Given the description of an element on the screen output the (x, y) to click on. 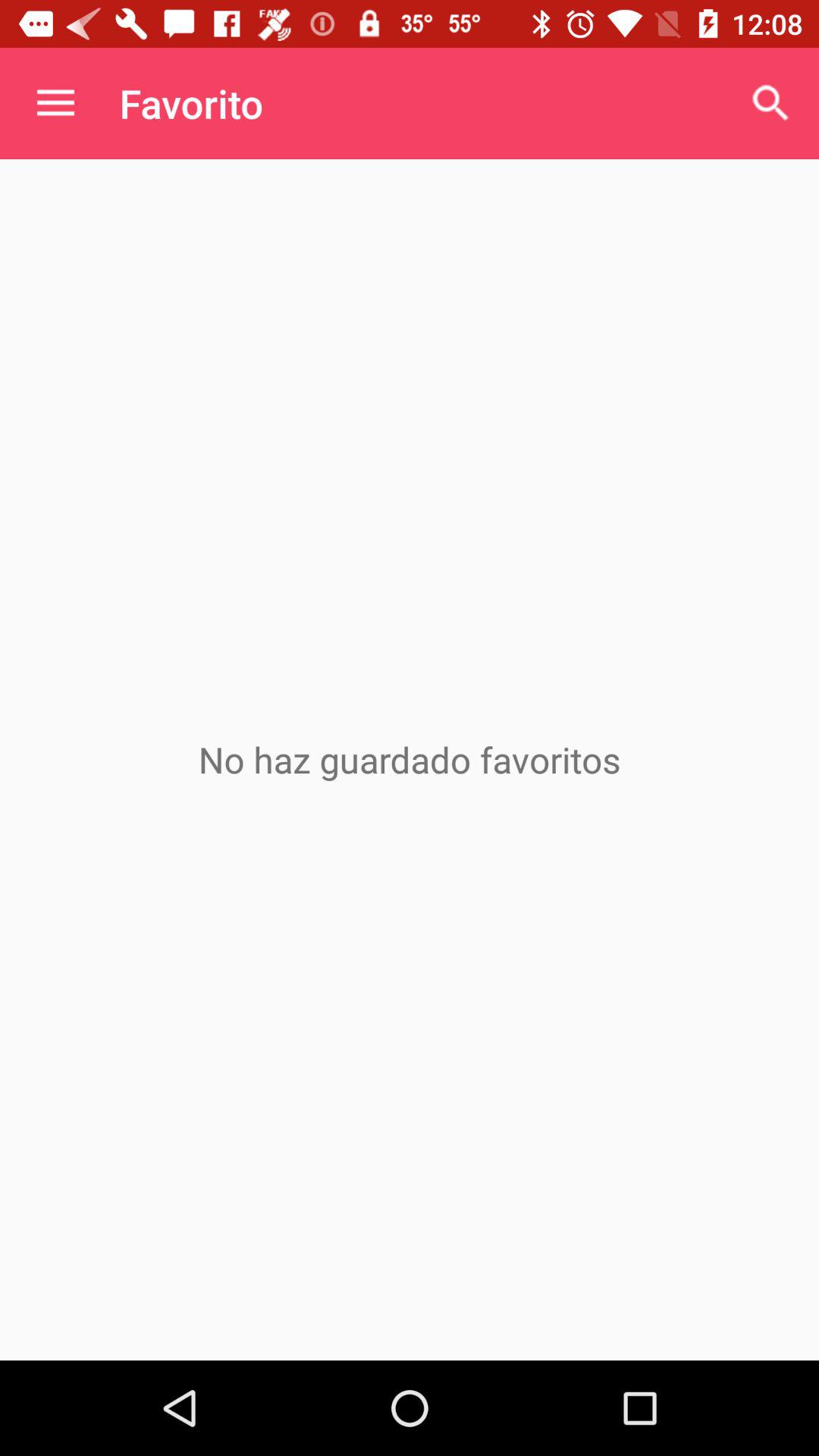
launch app next to the favorito icon (771, 103)
